Given the description of an element on the screen output the (x, y) to click on. 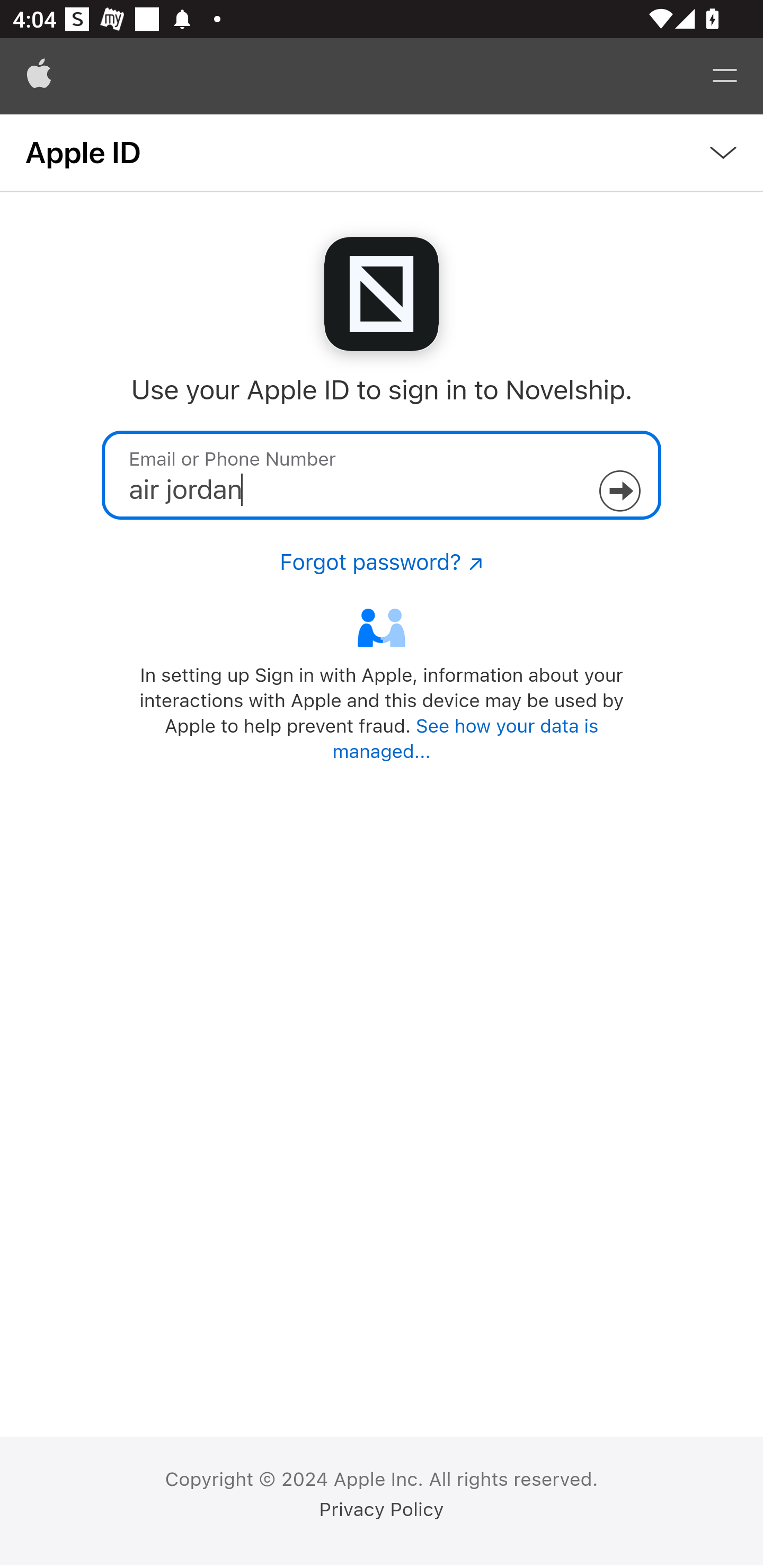
Apple (38, 75)
Menu (724, 75)
air jordan (381, 475)
Continue (618, 490)
Privacy Policy (381, 1509)
